Given the description of an element on the screen output the (x, y) to click on. 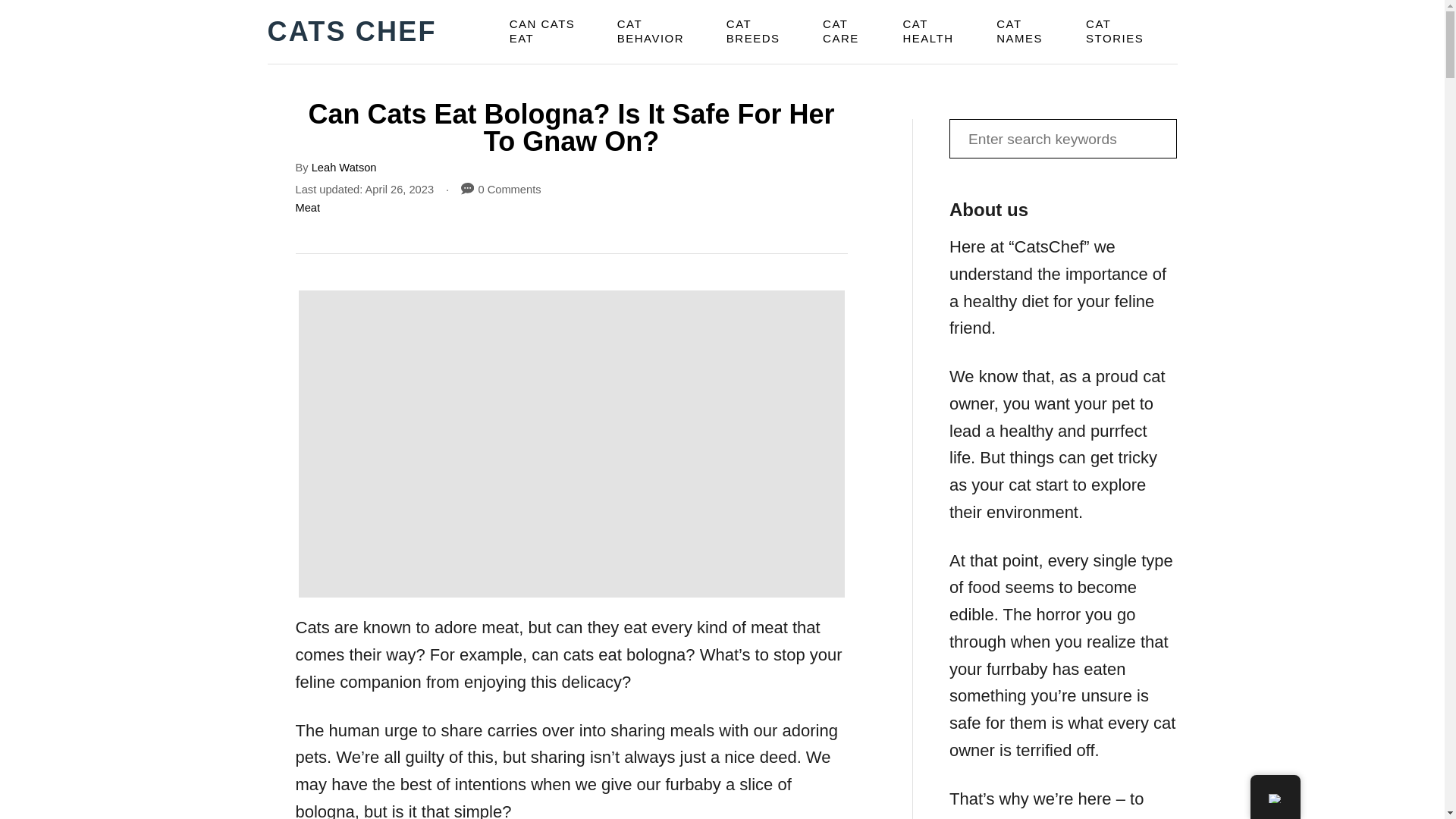
CAT BEHAVIOR (662, 31)
Leah Watson (344, 167)
CAT NAMES (1032, 31)
English (1274, 798)
Cats Chef (360, 31)
CAT STORIES (1126, 31)
Meat (307, 207)
CAT BREEDS (765, 31)
Search for: (1062, 138)
CAT HEALTH (940, 31)
